Given the description of an element on the screen output the (x, y) to click on. 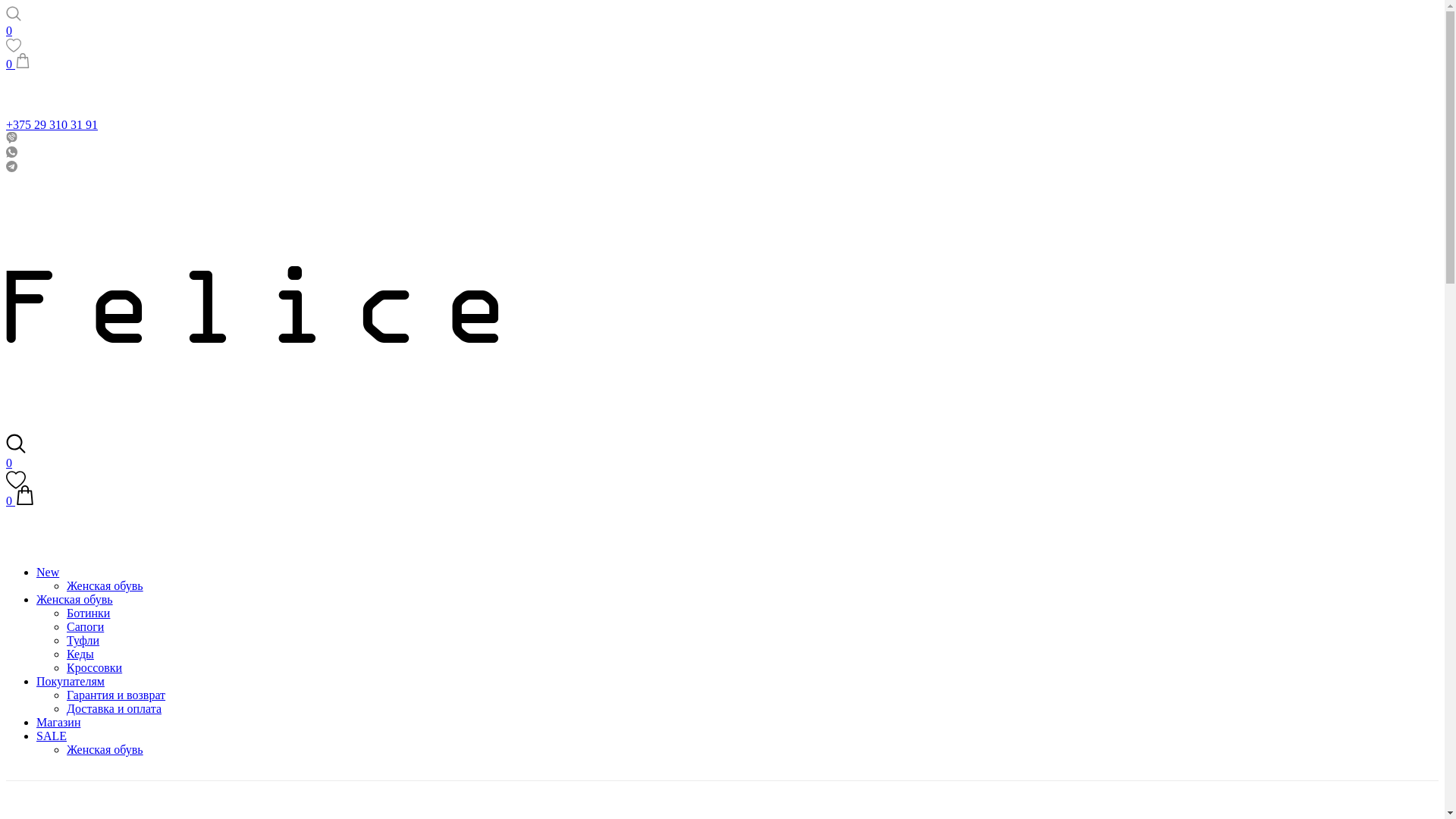
0 Element type: text (722, 38)
+375 29 310 31 91 Element type: text (722, 123)
0 Element type: text (18, 63)
0 Element type: text (722, 470)
New Element type: text (737, 572)
0 Element type: text (20, 500)
SALE Element type: text (737, 736)
